Given the description of an element on the screen output the (x, y) to click on. 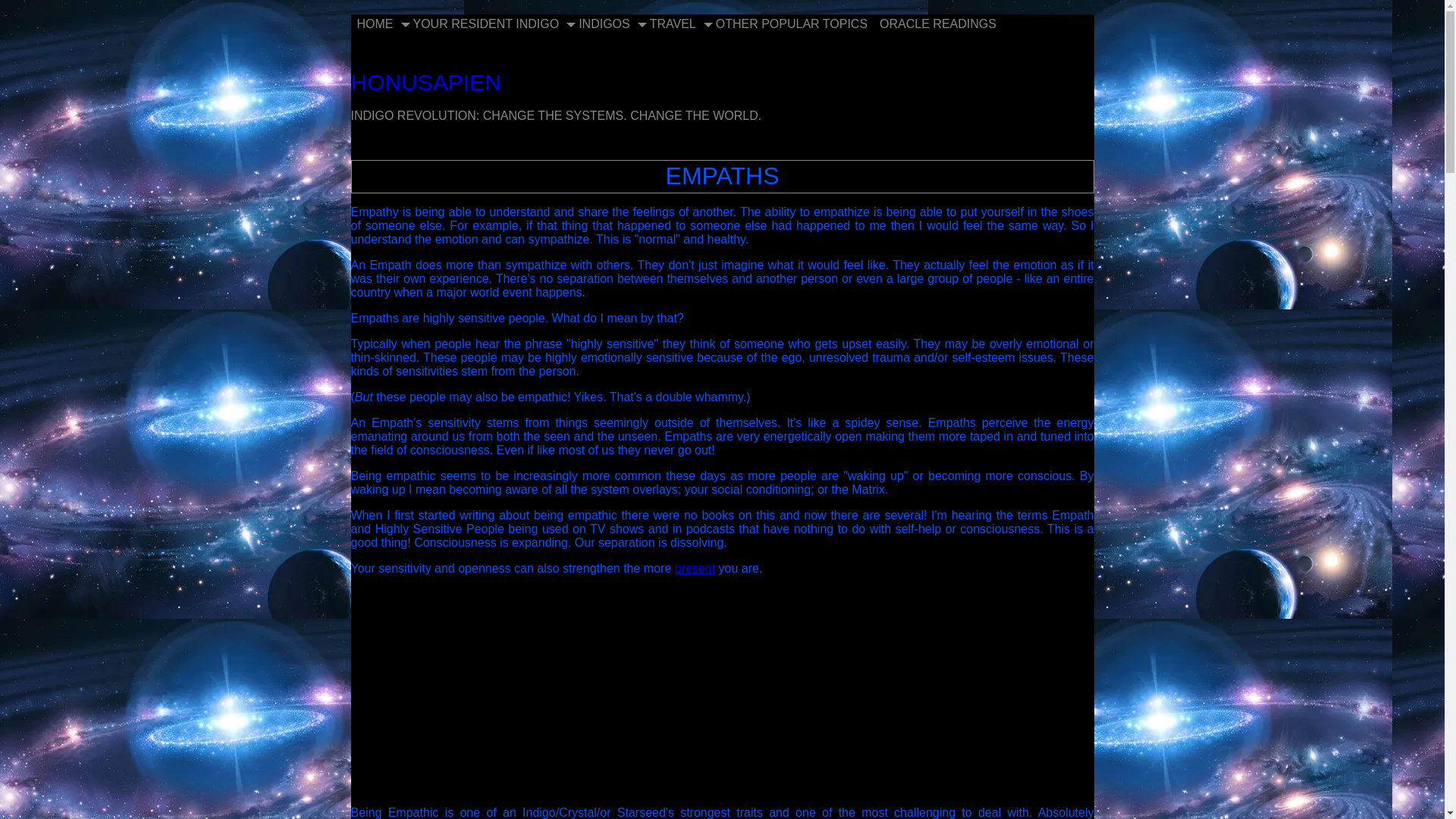
ORACLE READINGS (938, 24)
present (694, 567)
HOME (374, 24)
HONUSAPIEN (425, 82)
